Given the description of an element on the screen output the (x, y) to click on. 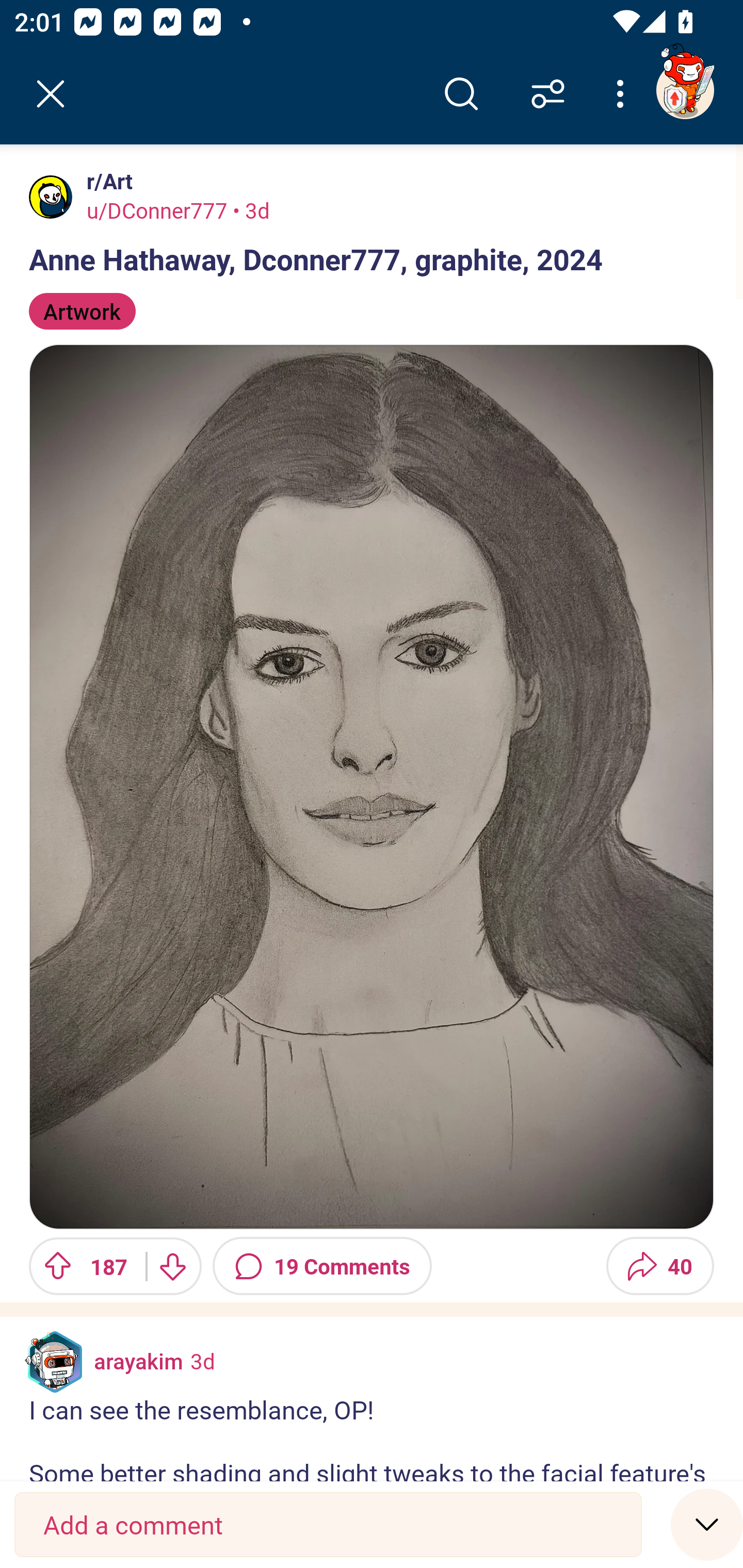
Back (50, 93)
TestAppium002 account (685, 90)
Search comments (460, 93)
Sort comments (547, 93)
More options (623, 93)
r/Art (106, 181)
Avatar (50, 196)
u/DConner777 (156, 210)
Artwork (81, 311)
Image (371, 786)
Upvote 187 (79, 1266)
Downvote (171, 1266)
19 Comments (321, 1266)
Share 40 (660, 1266)
3d (202, 1360)
Speed read (706, 1524)
Add a comment (327, 1524)
